Given the description of an element on the screen output the (x, y) to click on. 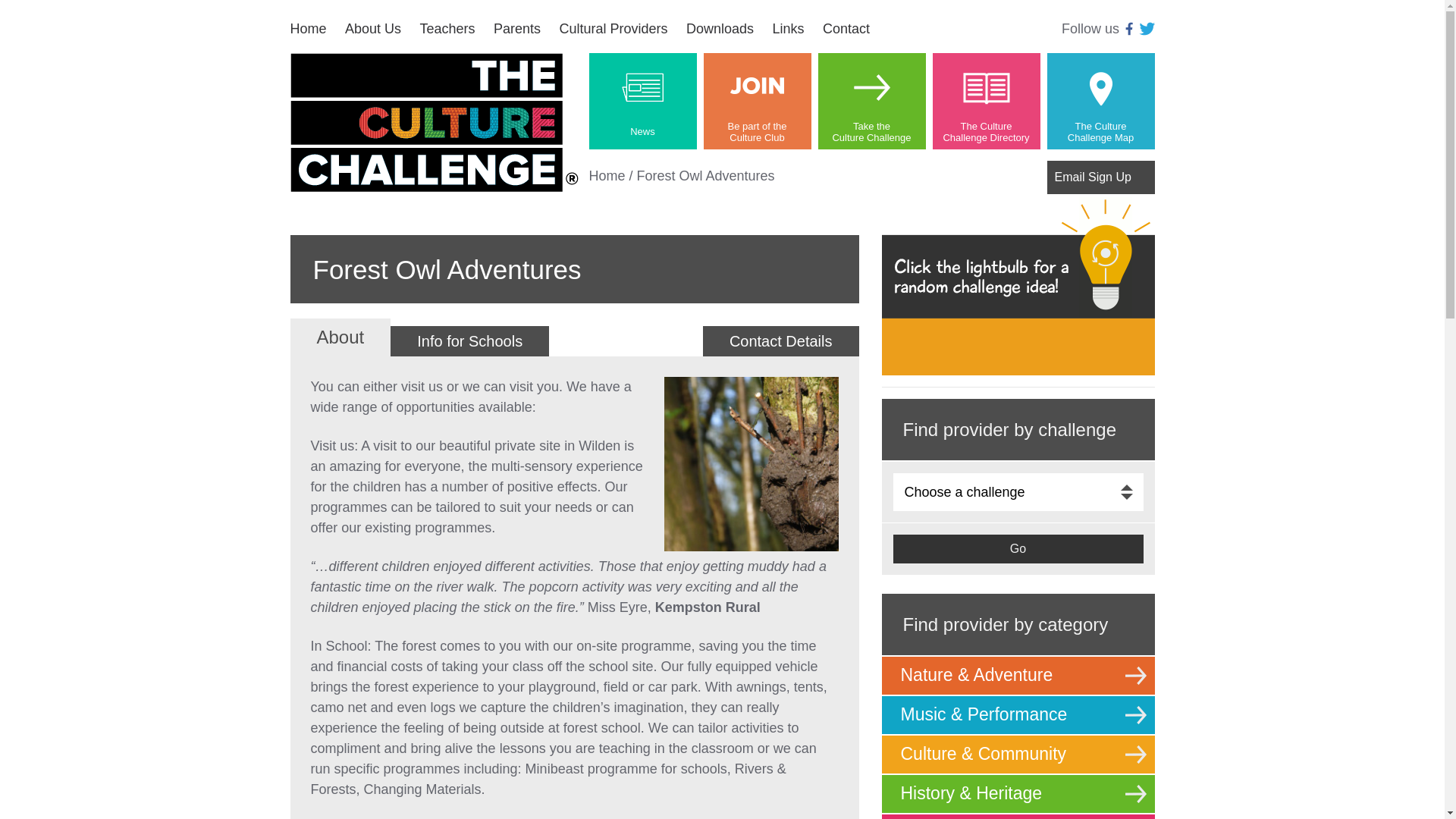
Contact (845, 28)
News (641, 101)
News (641, 131)
Cultural Providers (870, 101)
The Culture Challenge (612, 28)
Links (433, 122)
Parents (756, 131)
Go (787, 28)
Downloads (1100, 131)
